Given the description of an element on the screen output the (x, y) to click on. 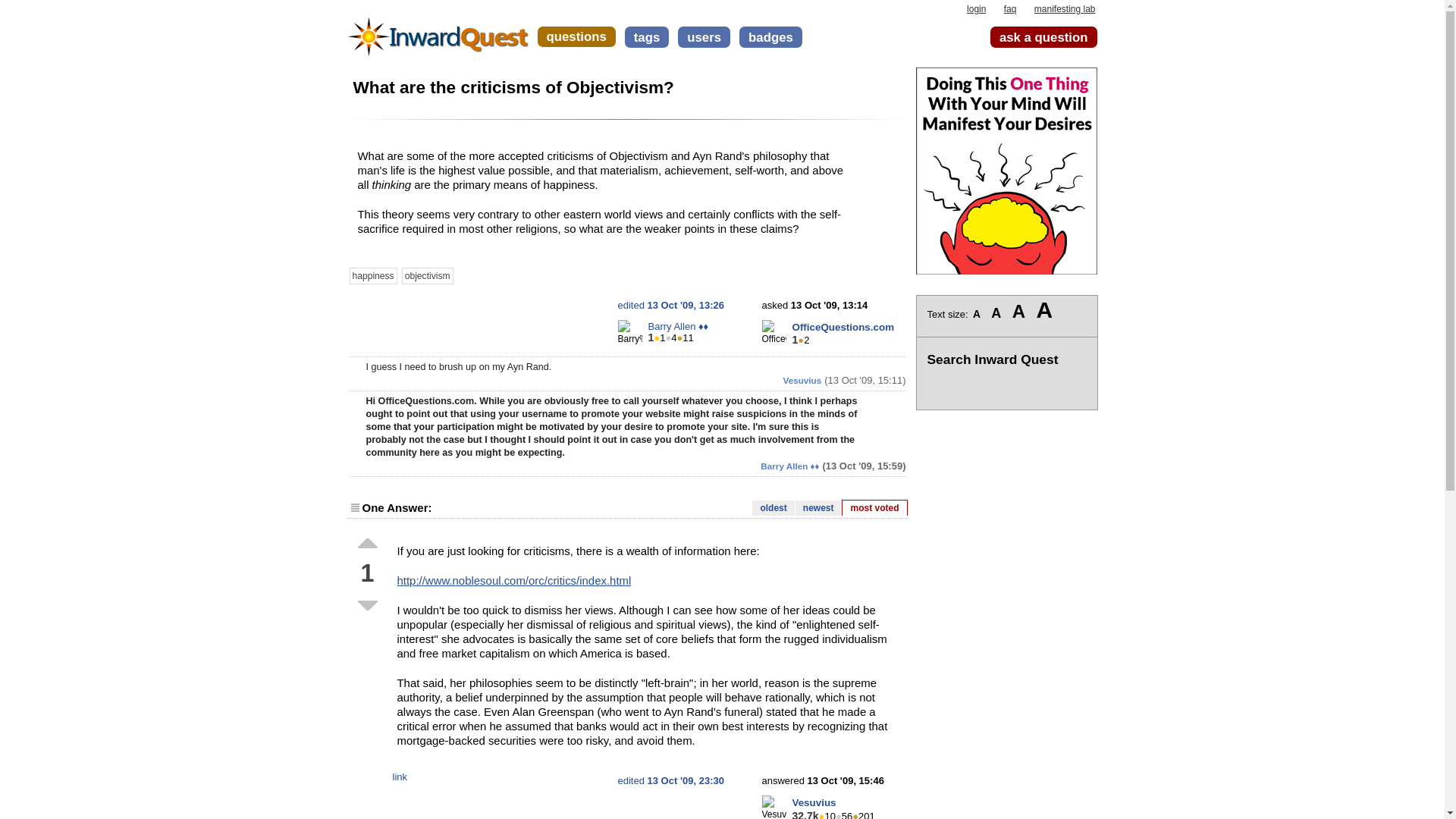
1 badges (659, 337)
login (975, 9)
most voted answers will be shown first (874, 507)
Vesuvius (813, 802)
2 badges (803, 339)
newest answers will be shown first (817, 507)
back to home page (438, 30)
ask a question (1043, 36)
users (703, 36)
manifesting lab (1064, 9)
faq (1010, 9)
tags (646, 36)
edited 13 Oct '09, 23:30 (670, 780)
permanent link to this answer (400, 776)
4 badges (671, 337)
